Given the description of an element on the screen output the (x, y) to click on. 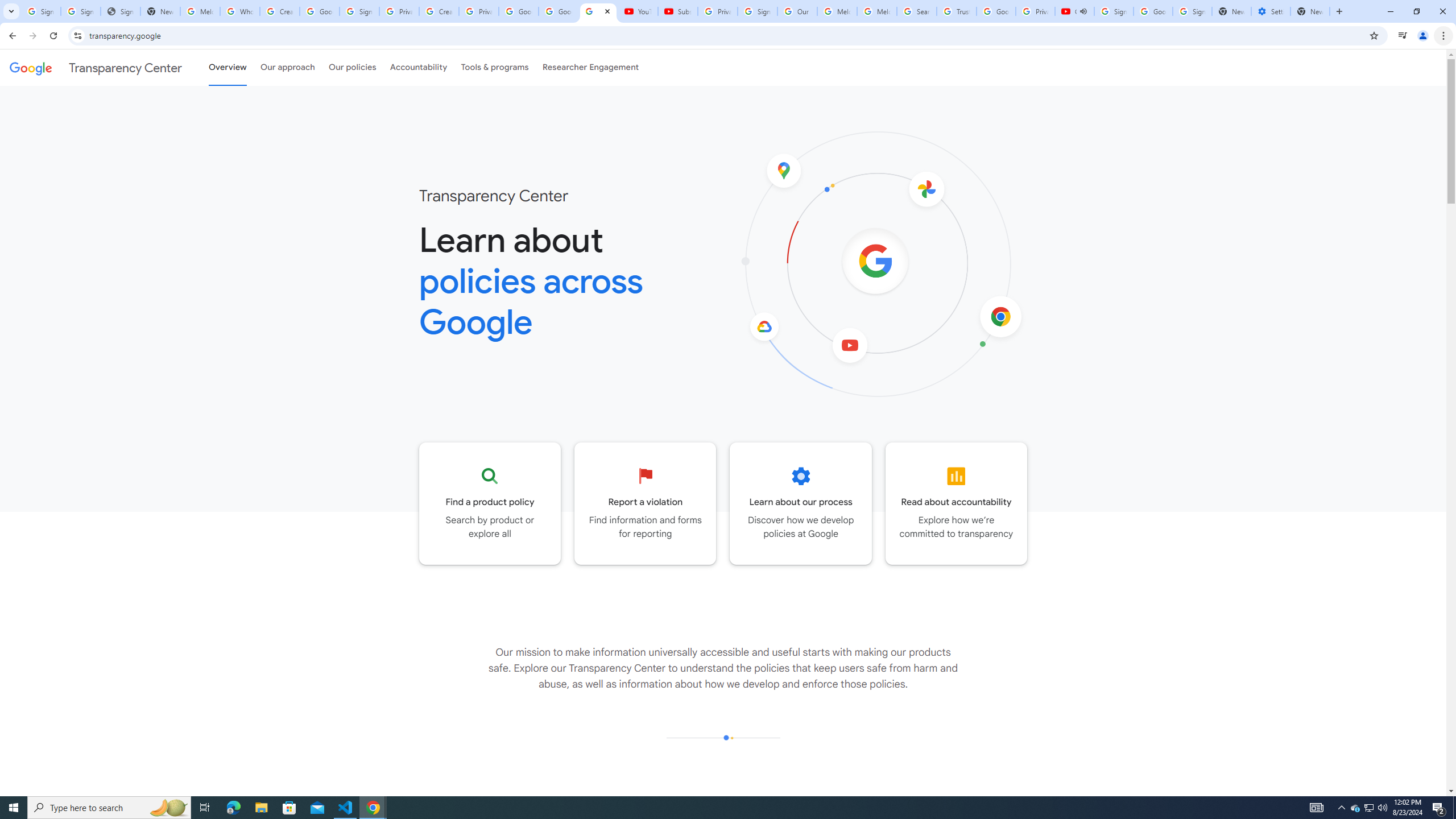
Researcher Engagement (590, 67)
Create your Google Account (438, 11)
Create your Google Account (279, 11)
Search our Doodle Library Collection - Google Doodles (916, 11)
Go to the Product policy page (490, 503)
